Given the description of an element on the screen output the (x, y) to click on. 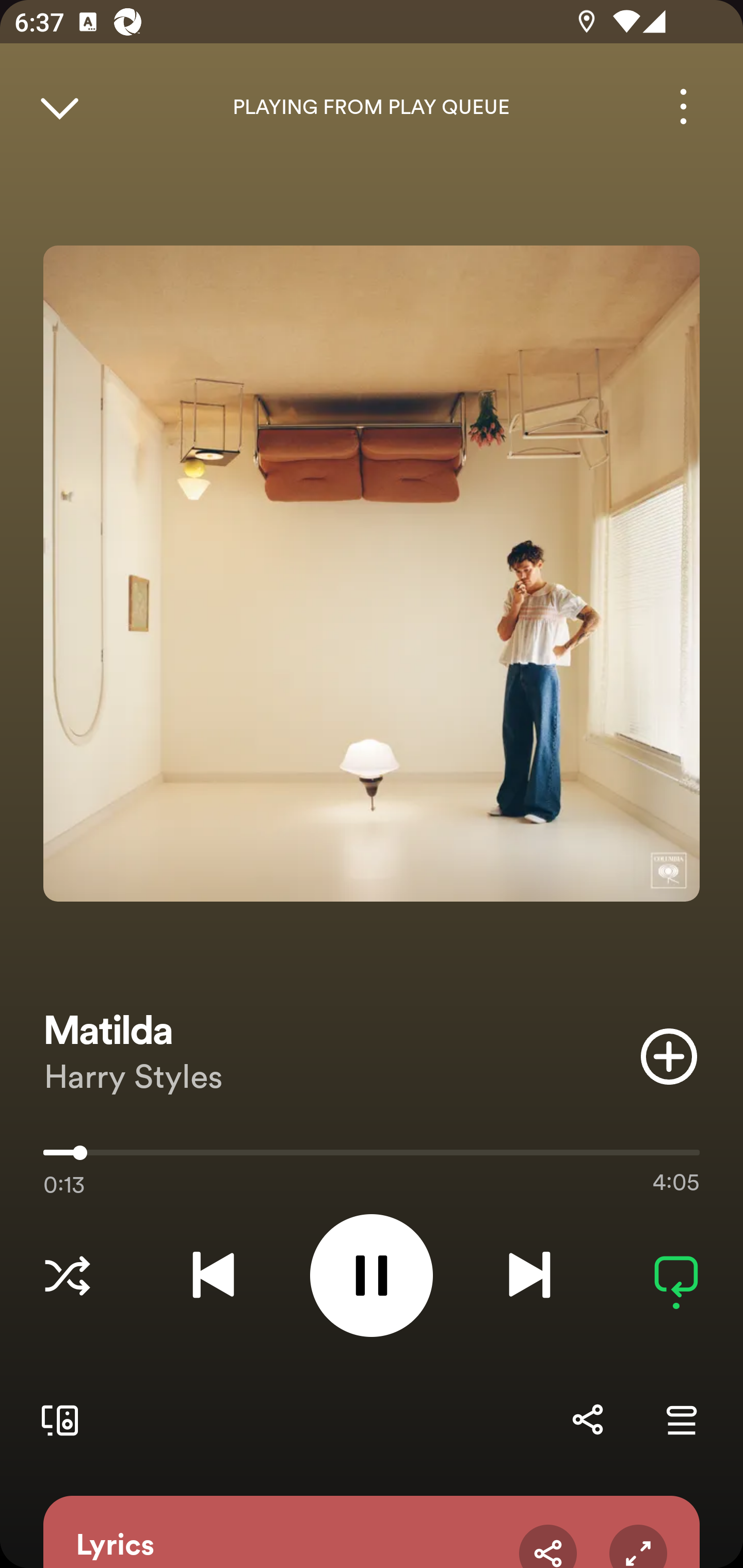
Close (59, 106)
More options for song Matilda (683, 106)
PLAYING FROM PLAY QUEUE (371, 107)
Add item (669, 1056)
0:12 4:05 13058.0 Use volume keys to adjust (371, 1157)
Pause (371, 1275)
Previous (212, 1275)
Next (529, 1275)
Choose a Listening Mode (66, 1275)
Repeat (676, 1275)
Share (587, 1419)
Go to Queue (681, 1419)
Connect to a device. Opens the devices menu (55, 1419)
Lyrics Share Expand (371, 1531)
Share (547, 1546)
Expand (638, 1546)
